Given the description of an element on the screen output the (x, y) to click on. 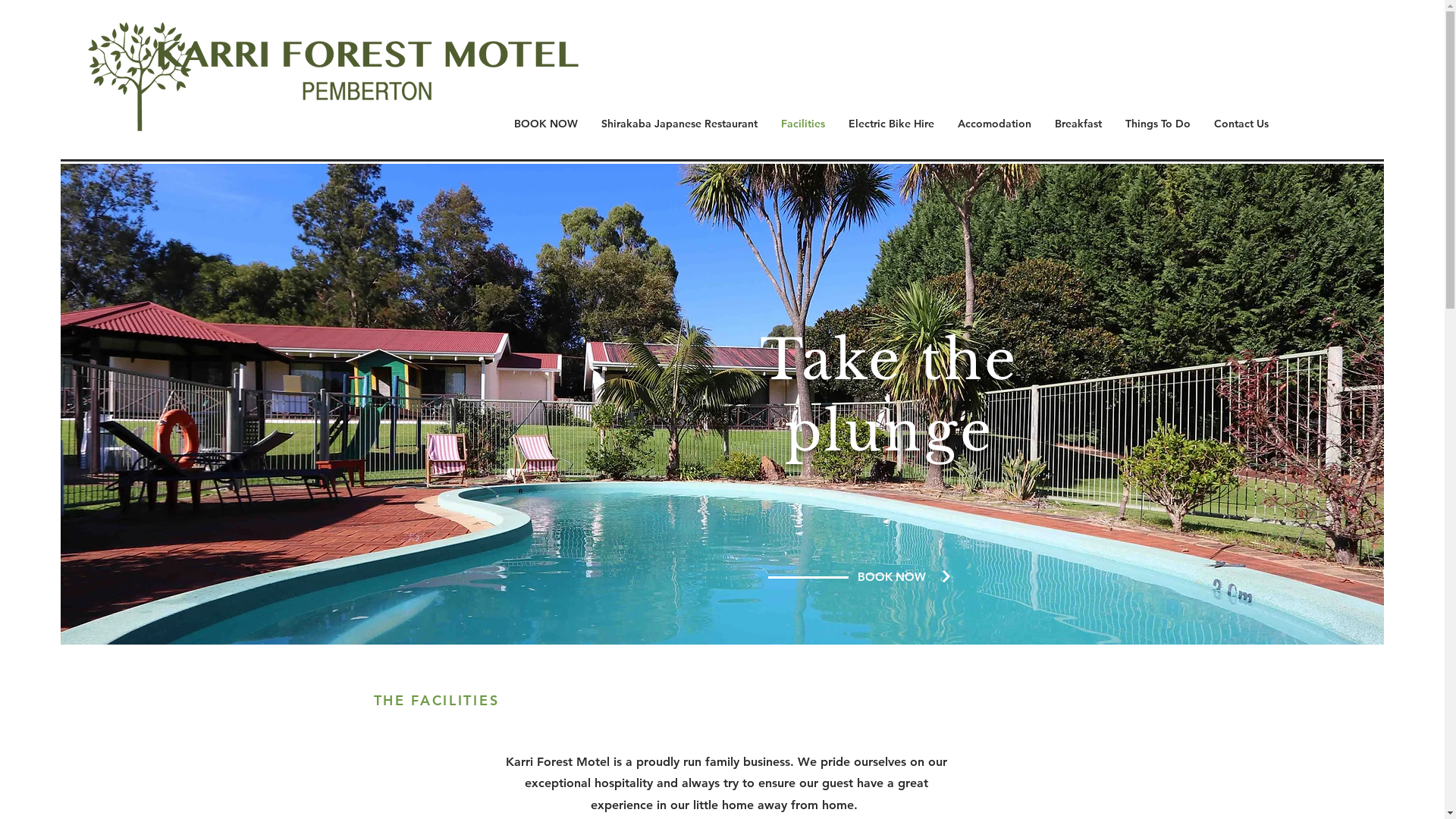
Shirakaba Japanese Restaurant Element type: text (679, 123)
BOOK NOW Element type: text (891, 576)
Electric Bike Hire Element type: text (891, 123)
Contact Us Element type: text (1241, 123)
Breakfast Element type: text (1078, 123)
BOOK NOW Element type: text (545, 123)
Things To Do Element type: text (1157, 123)
Facilities Element type: text (802, 123)
Accomodation Element type: text (994, 123)
